Given the description of an element on the screen output the (x, y) to click on. 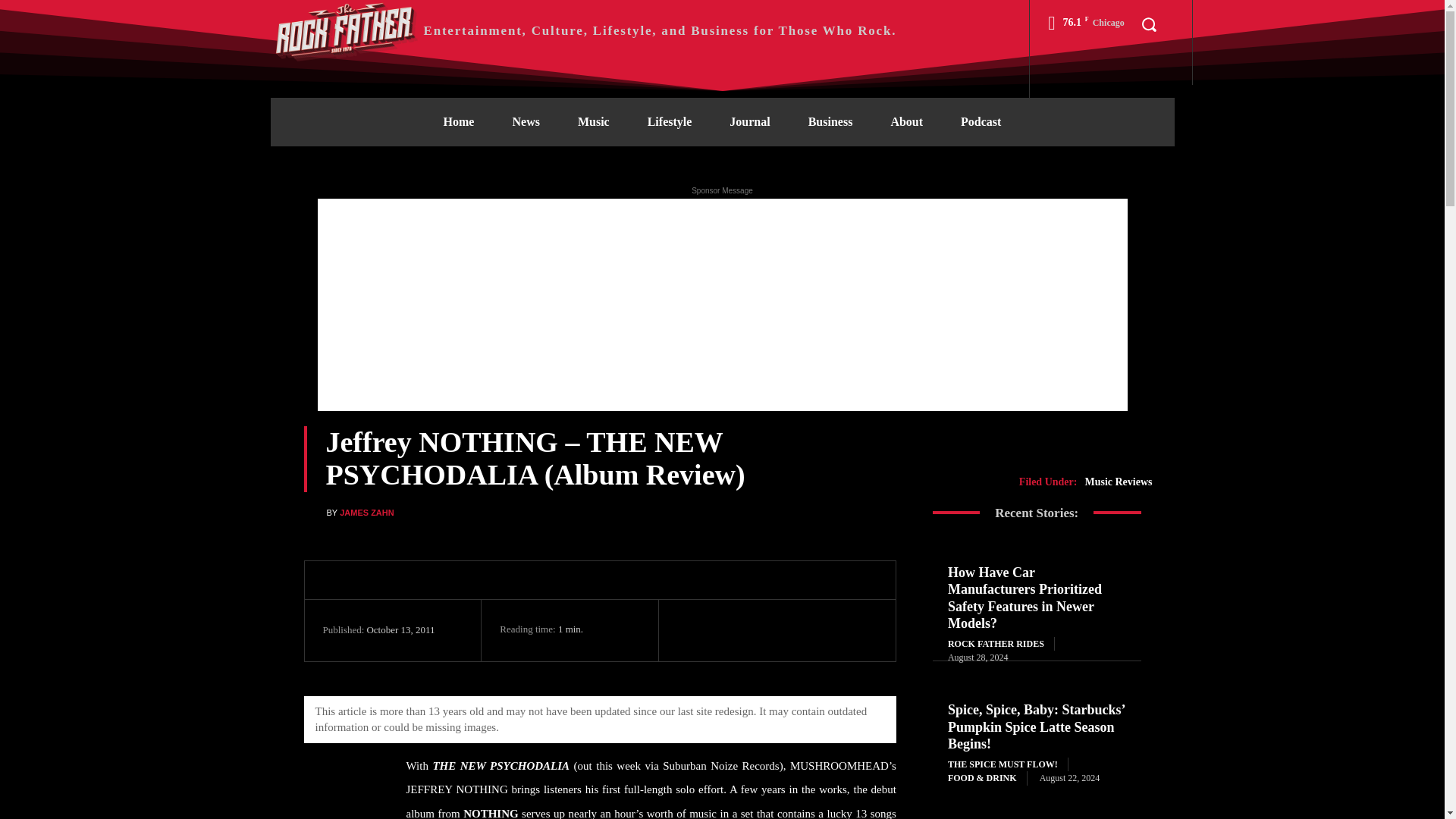
The Rock Father (582, 30)
Home (459, 121)
The Rock Father (345, 30)
James Zahn (314, 511)
Music (593, 121)
Lifestyle (669, 121)
News (525, 121)
